Given the description of an element on the screen output the (x, y) to click on. 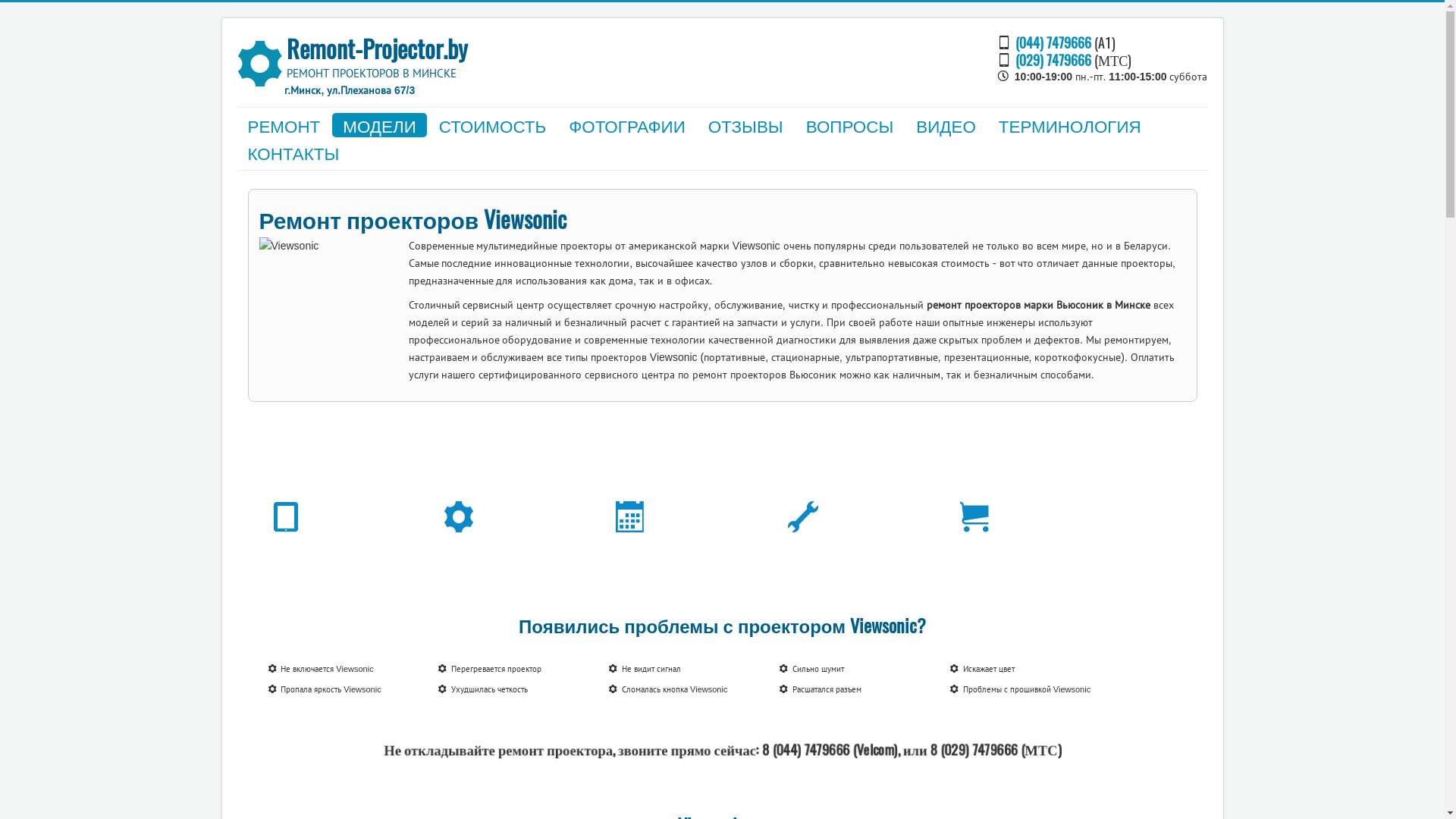
(044) 7479666 Element type: text (1053, 41)
Viewsonic Element type: hover (331, 301)
(029) 7479666 Element type: text (1053, 59)
